Given the description of an element on the screen output the (x, y) to click on. 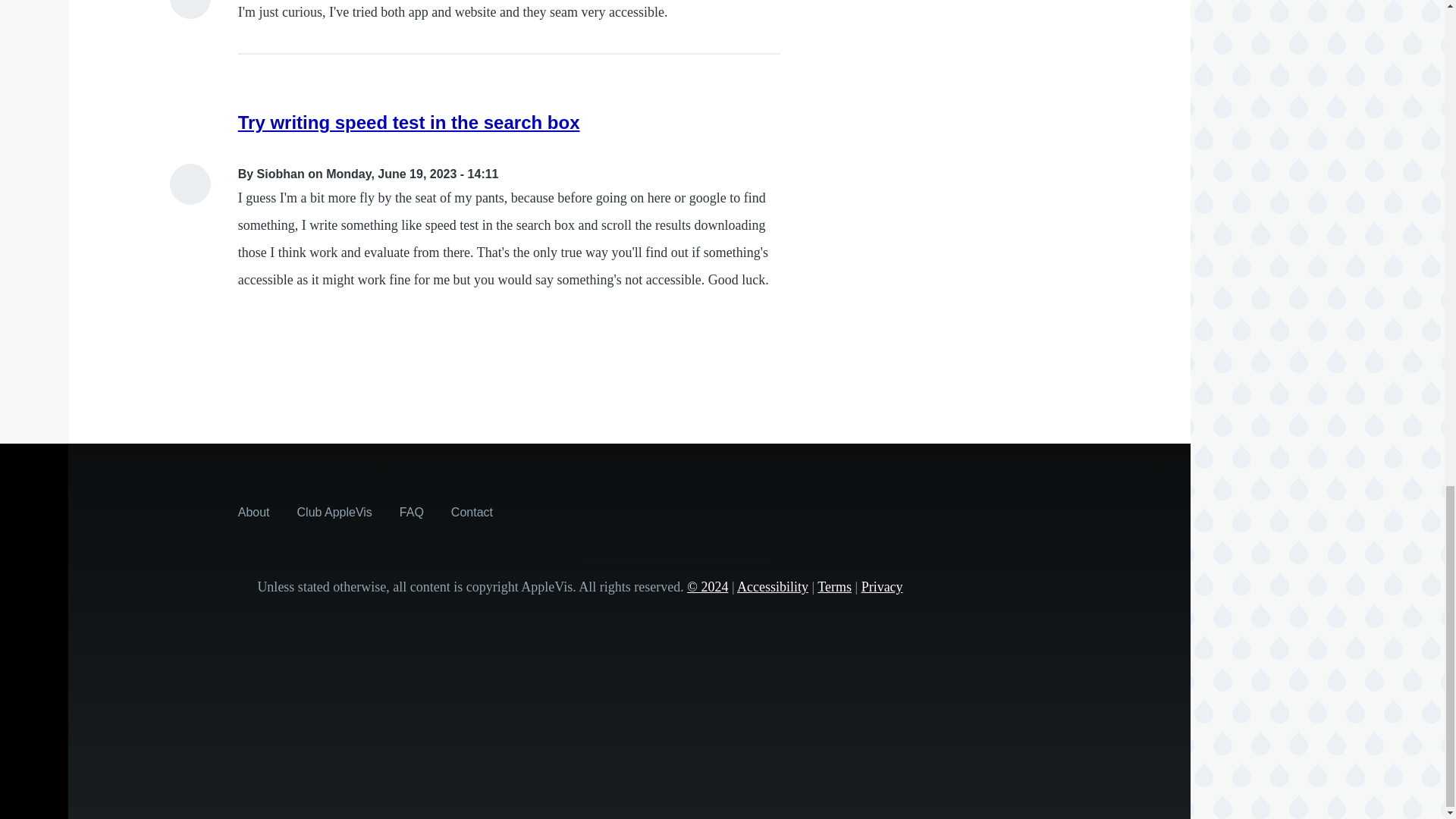
Try writing speed test in the search box (408, 122)
About (253, 511)
Contact (472, 511)
Club AppleVis (334, 511)
FAQ (410, 511)
Answers to some frequently asked questions about AppleVis (410, 511)
About (253, 511)
Accessibility (772, 586)
